Given the description of an element on the screen output the (x, y) to click on. 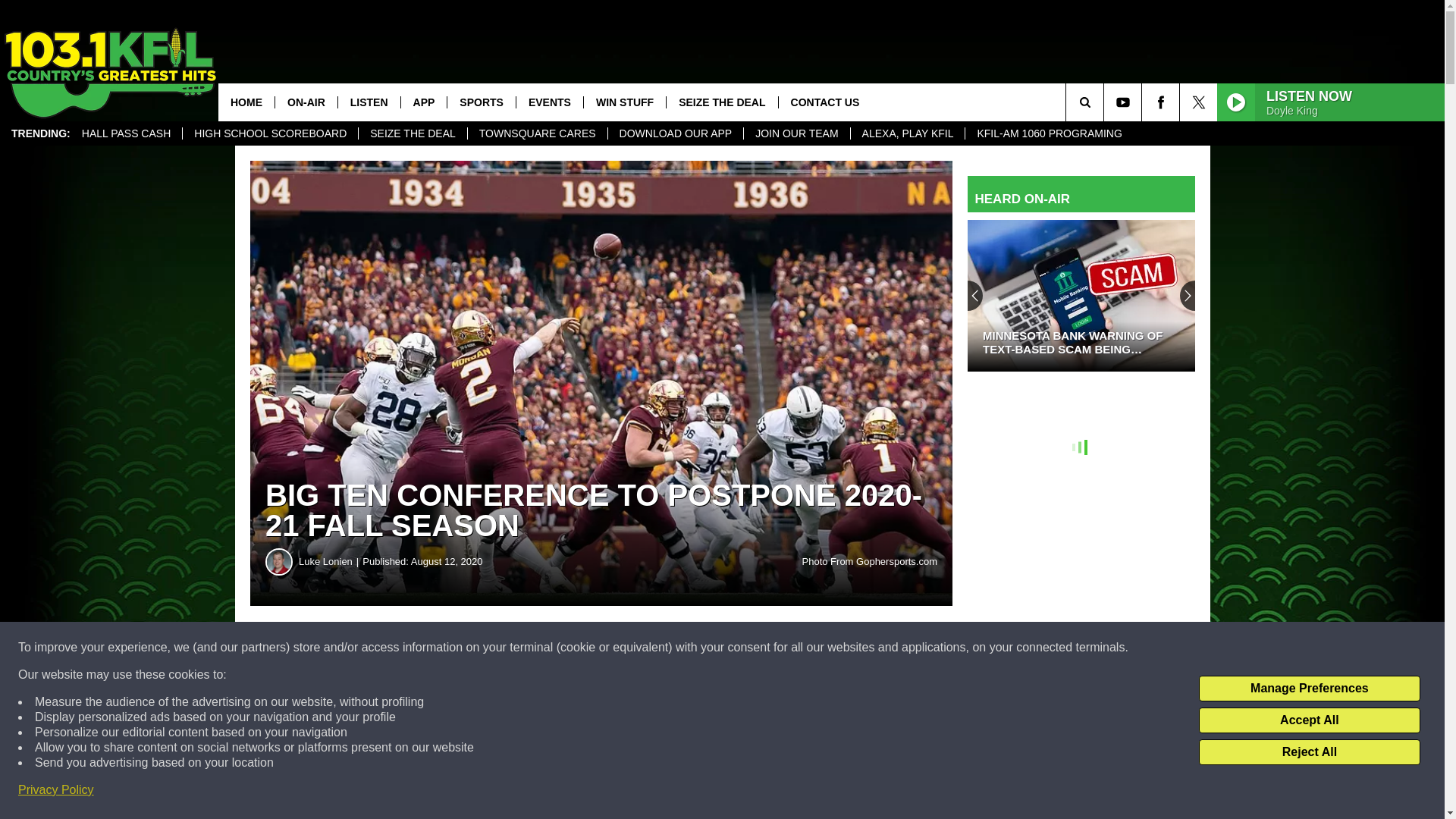
Accept All (1309, 720)
LISTEN (368, 102)
JOIN OUR TEAM (795, 133)
Share on Twitter (741, 647)
HALL PASS CASH (126, 133)
Manage Preferences (1309, 688)
Reject All (1309, 751)
SEARCH (1106, 102)
Share on Facebook (460, 647)
SPORTS (480, 102)
